Given the description of an element on the screen output the (x, y) to click on. 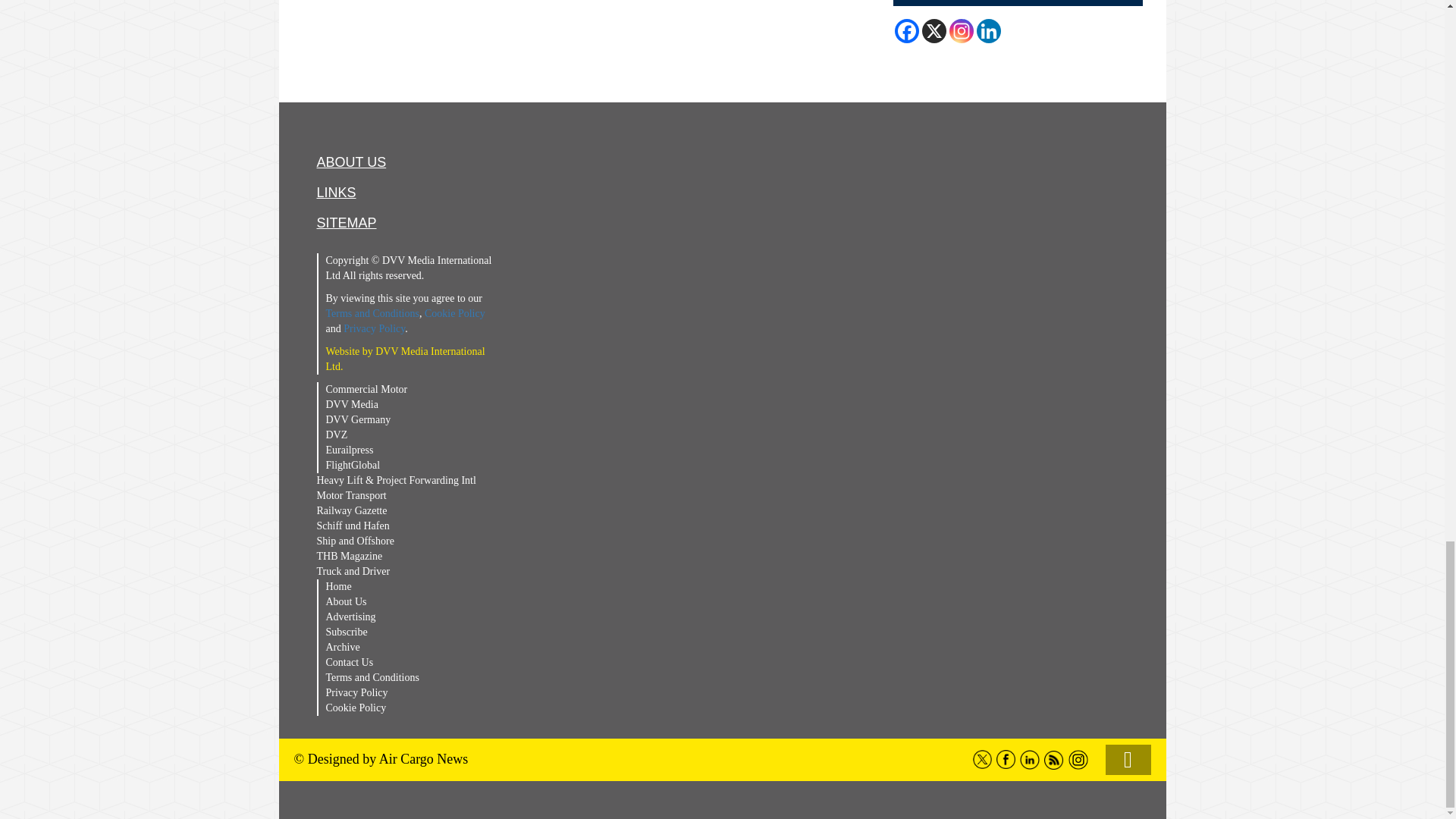
Facebook (906, 30)
X (933, 30)
Instagram (961, 30)
Linkedin (988, 30)
